Given the description of an element on the screen output the (x, y) to click on. 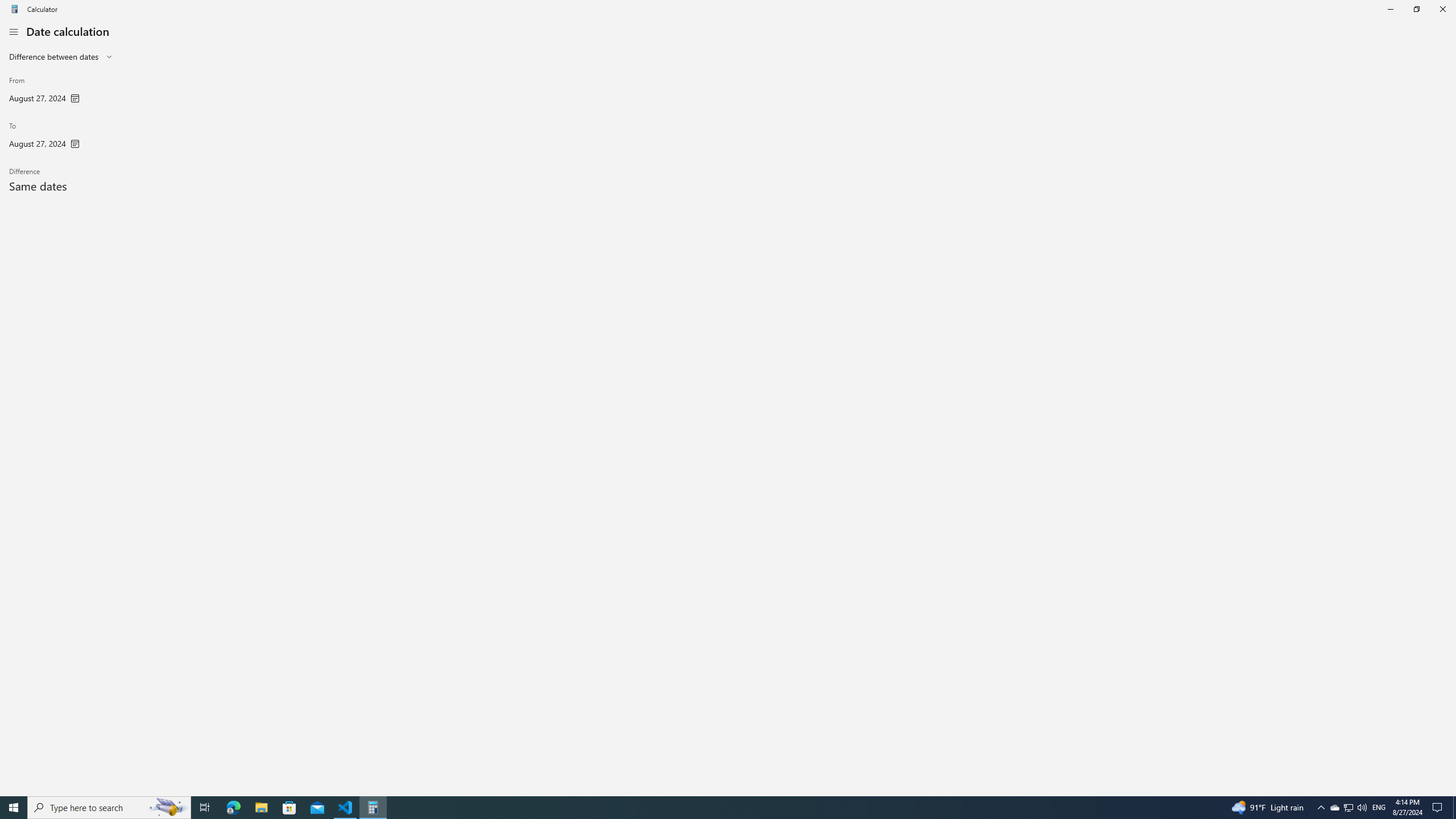
To (43, 137)
Minimize Calculator (1390, 9)
Open Navigation (13, 31)
Running applications (706, 807)
Calculator - 1 running window (373, 807)
